Given the description of an element on the screen output the (x, y) to click on. 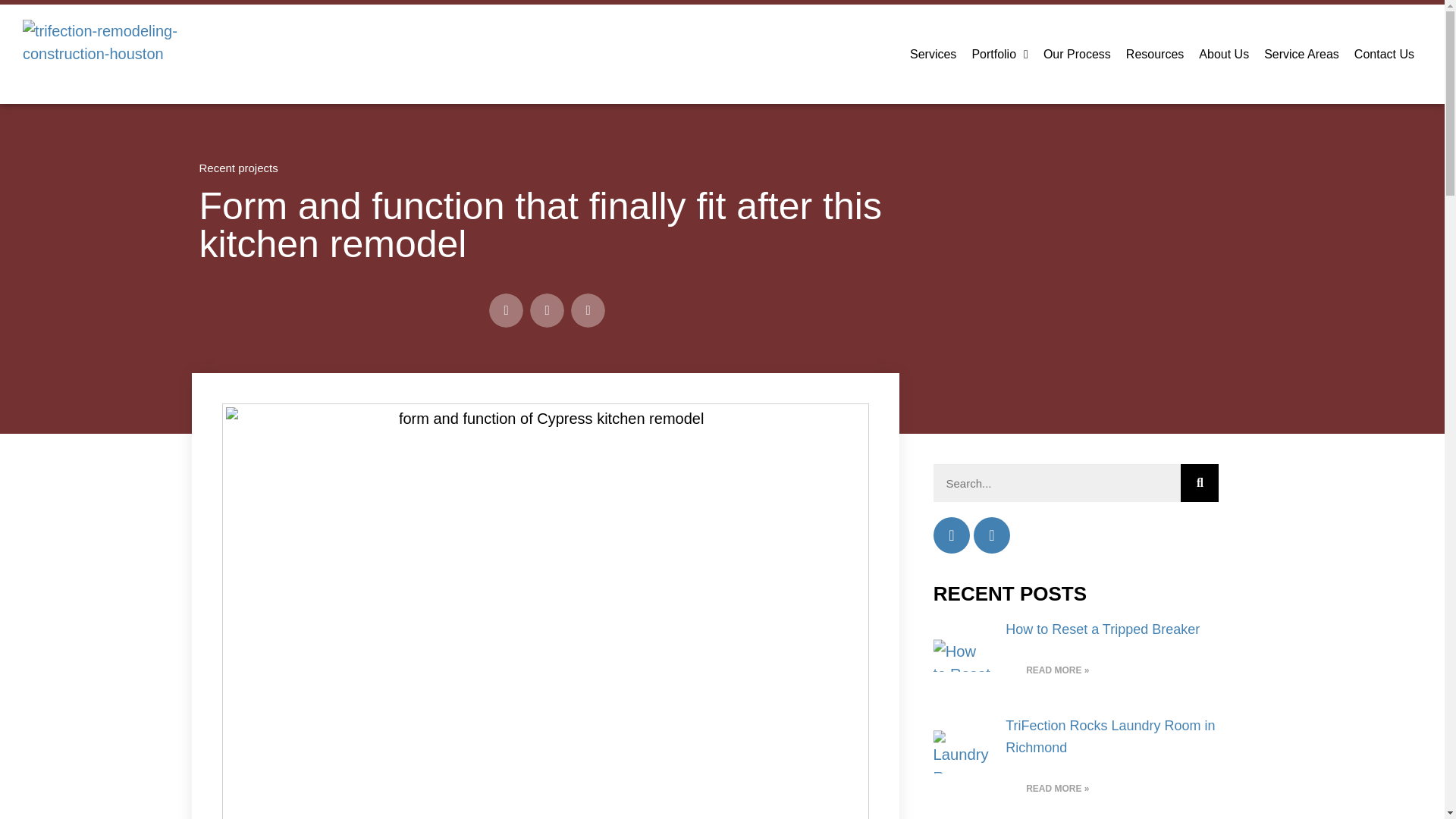
Portfolio (999, 53)
About Us (1223, 53)
Our Process (1076, 53)
Services (932, 53)
Resources (1154, 53)
